Given the description of an element on the screen output the (x, y) to click on. 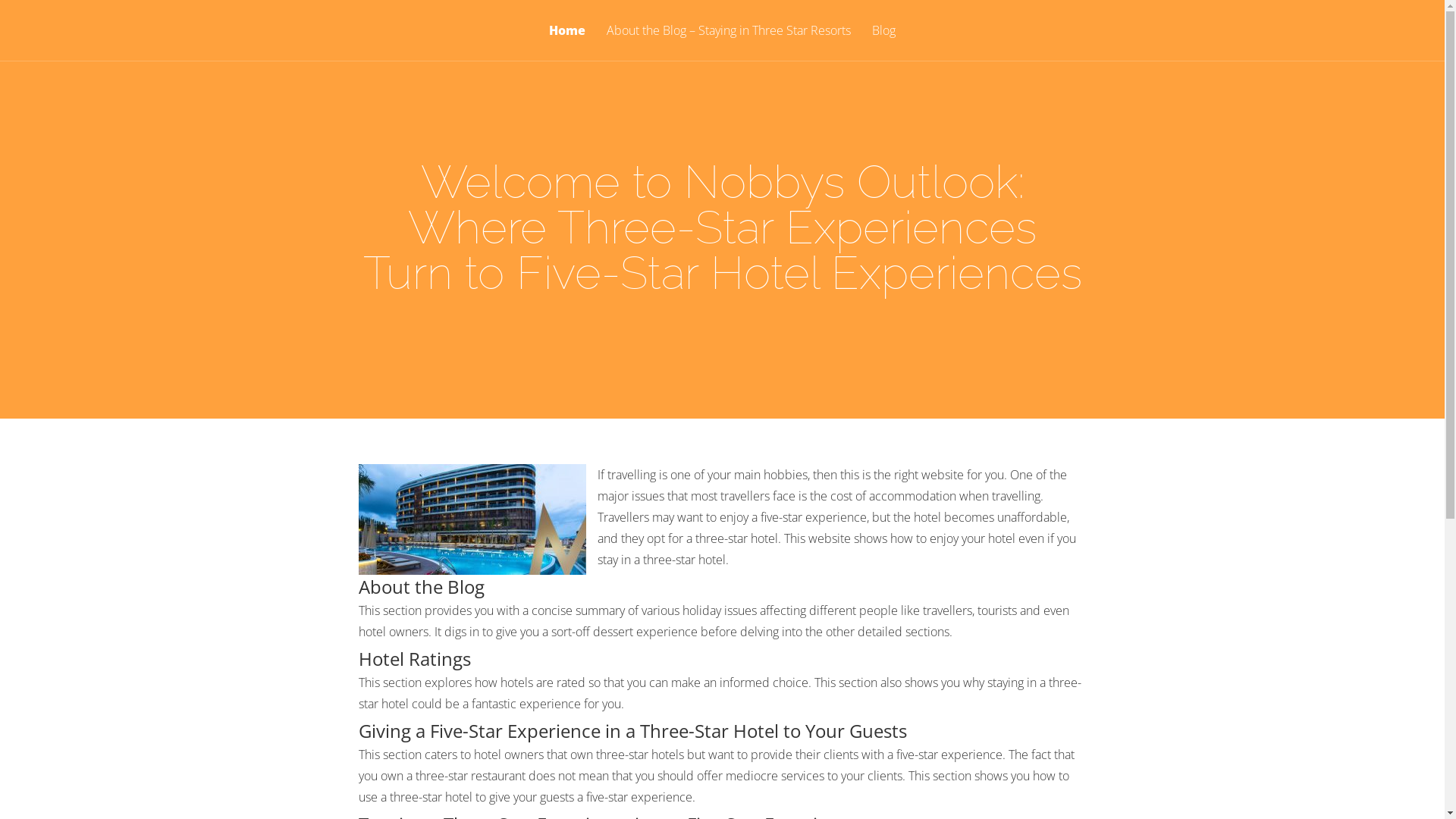
Home Element type: text (566, 42)
Blog Element type: text (883, 42)
